Given the description of an element on the screen output the (x, y) to click on. 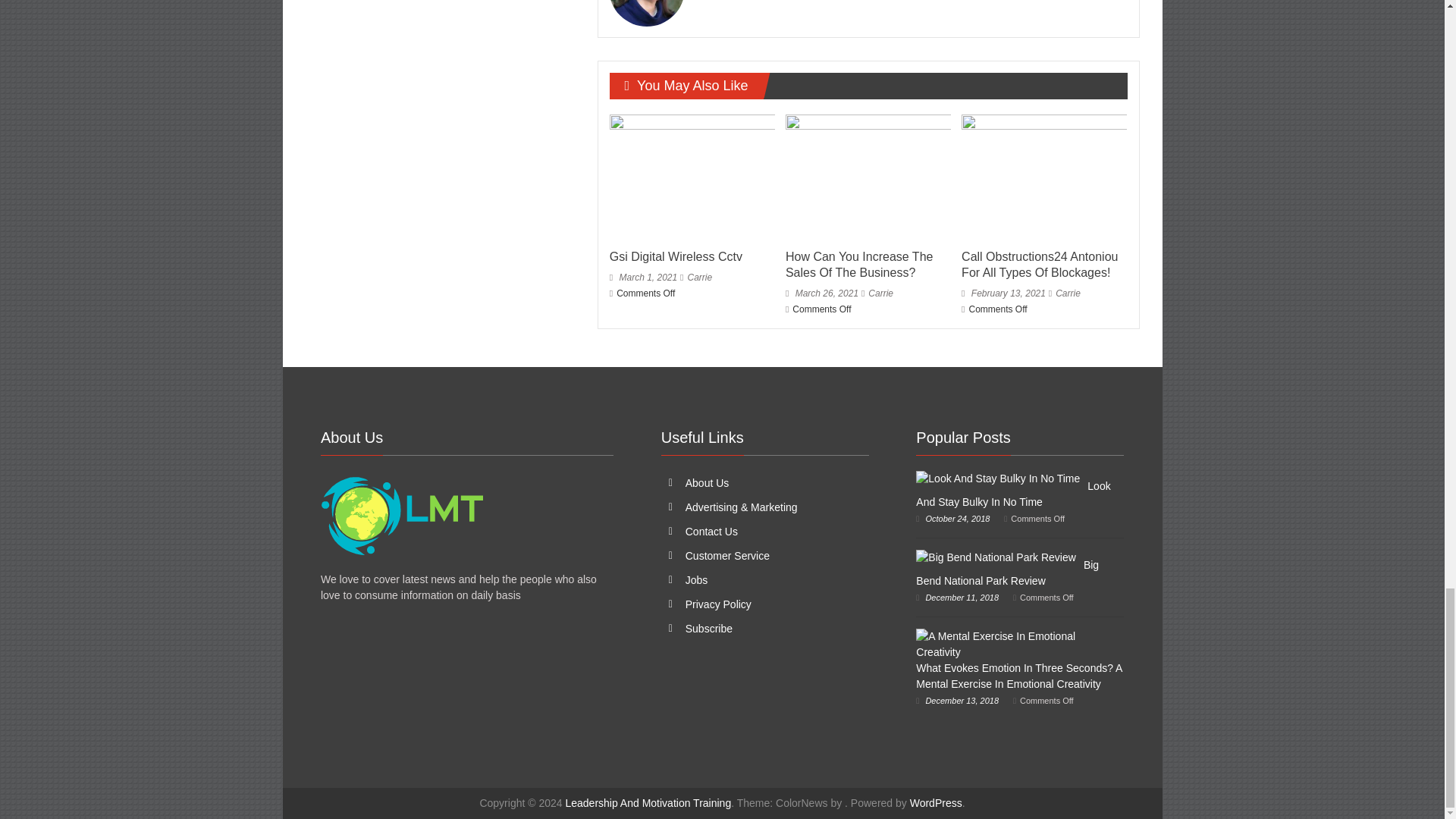
Gsi Digital Wireless Cctv (692, 177)
Carrie (699, 276)
2:39 pm (643, 276)
Carrie (880, 293)
How Can You Increase The Sales Of The Business? (859, 264)
Gsi Digital Wireless Cctv (676, 256)
Gsi Digital Wireless Cctv (676, 256)
March 1, 2021 (643, 276)
Carrie (699, 276)
How Can You Increase The Sales Of The Business? (868, 177)
2:37 pm (822, 293)
